Given the description of an element on the screen output the (x, y) to click on. 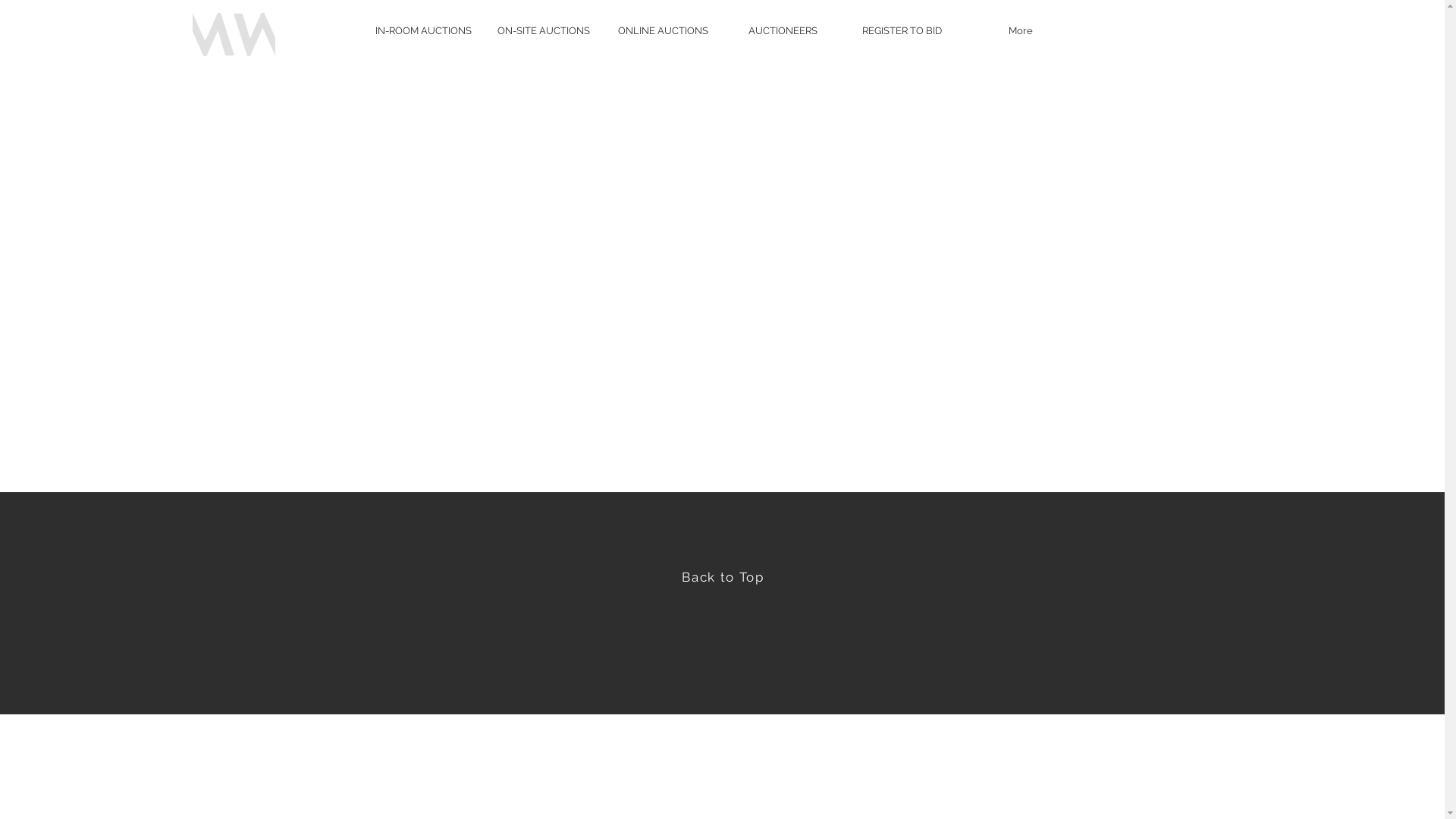
Back to Top Element type: text (722, 576)
IN-ROOM AUCTIONS Element type: text (423, 30)
ON-SITE AUCTIONS Element type: text (542, 30)
REGISTER TO BID Element type: text (901, 30)
ONLINE AUCTIONS Element type: text (662, 30)
AUCTIONEERS Element type: text (781, 30)
